Given the description of an element on the screen output the (x, y) to click on. 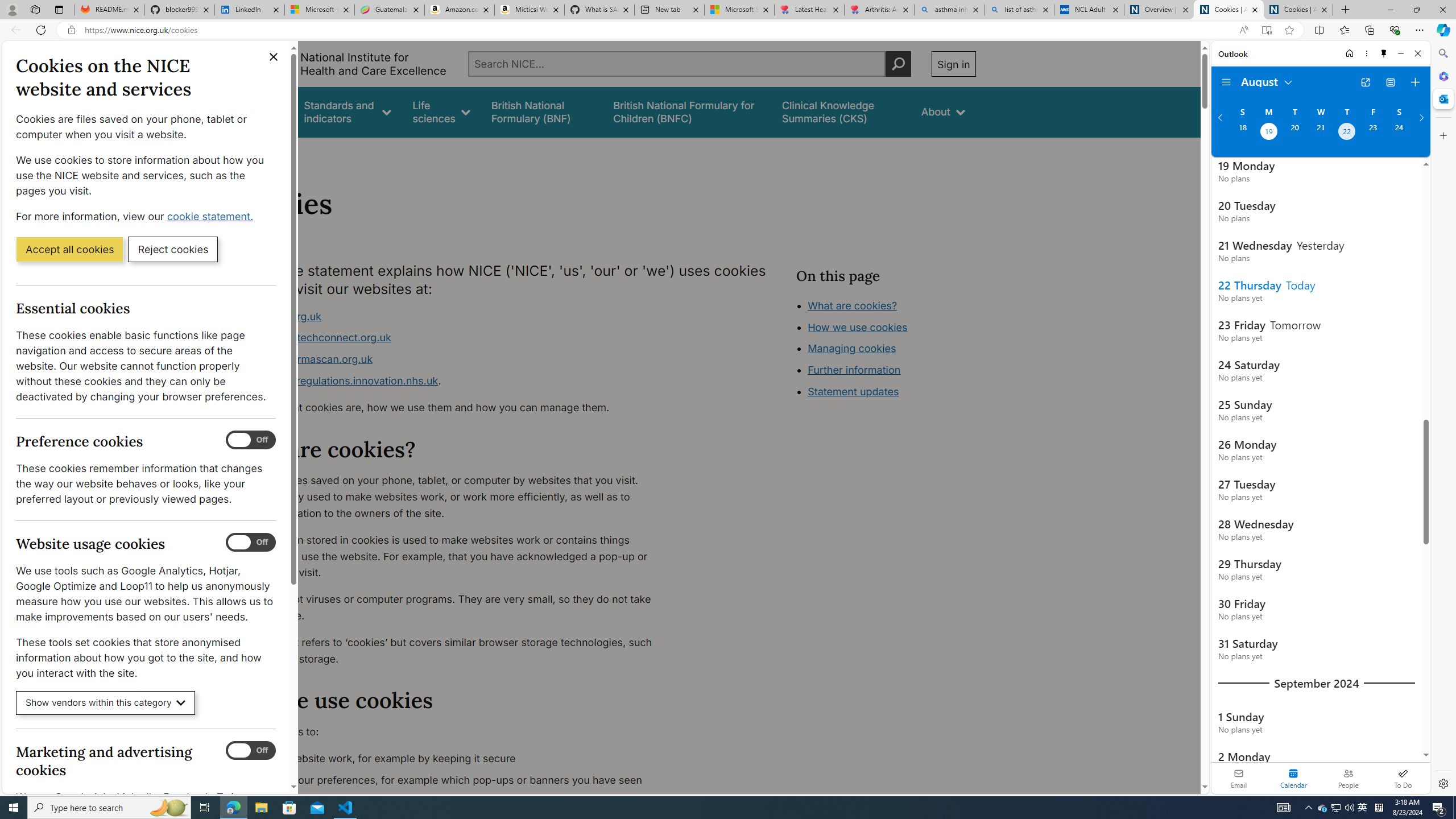
Accept all cookies (69, 248)
